Given the description of an element on the screen output the (x, y) to click on. 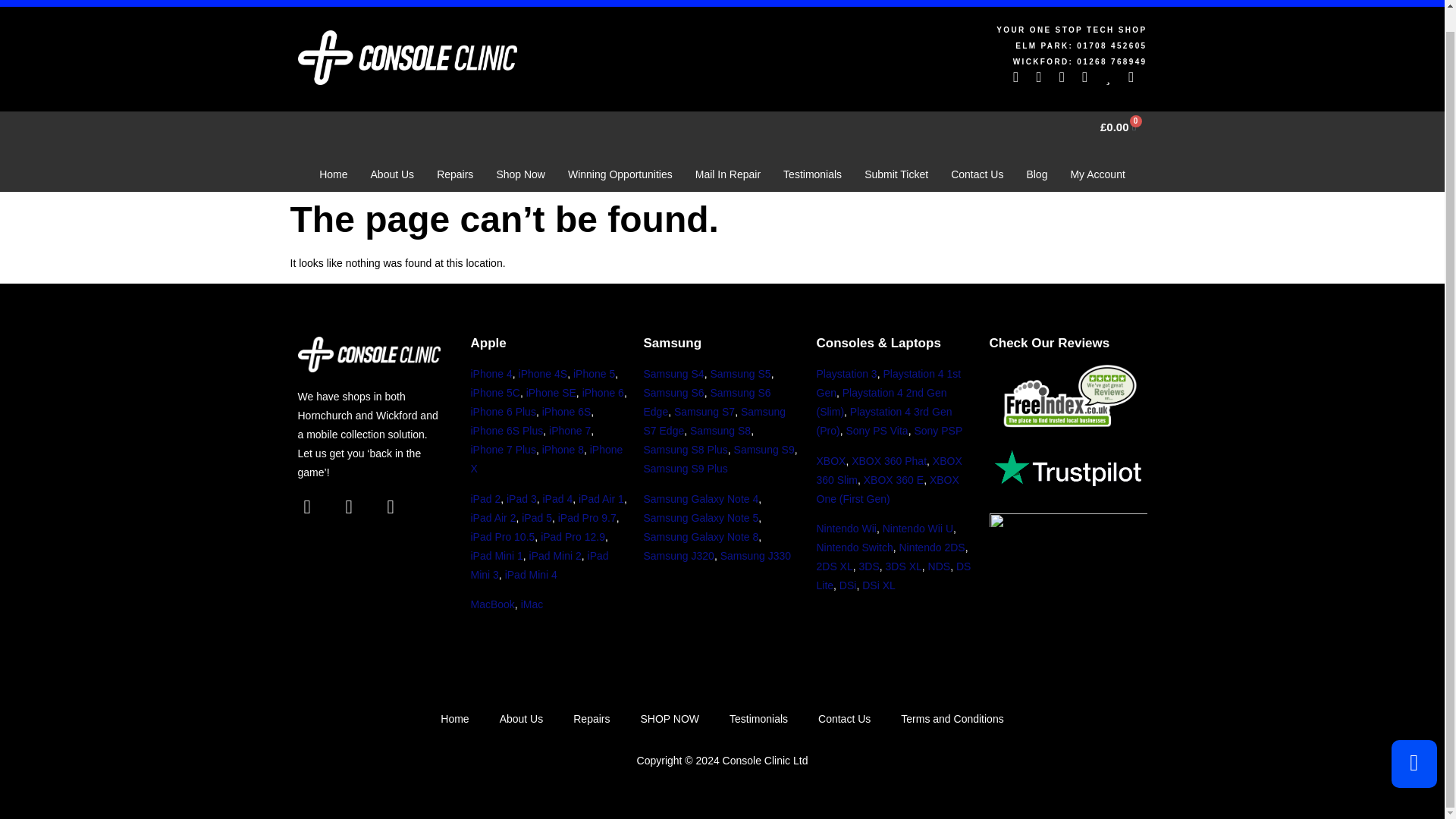
About Us (392, 174)
Contact Us (976, 174)
Winning Opportunities (620, 174)
ELM PARK: 01708 452605 (938, 45)
Shop Now (520, 174)
iPhone 4 (491, 373)
WICKFORD: 01268 768949 (938, 61)
Blog (1036, 174)
Submit Ticket (896, 174)
Home (332, 174)
